Given the description of an element on the screen output the (x, y) to click on. 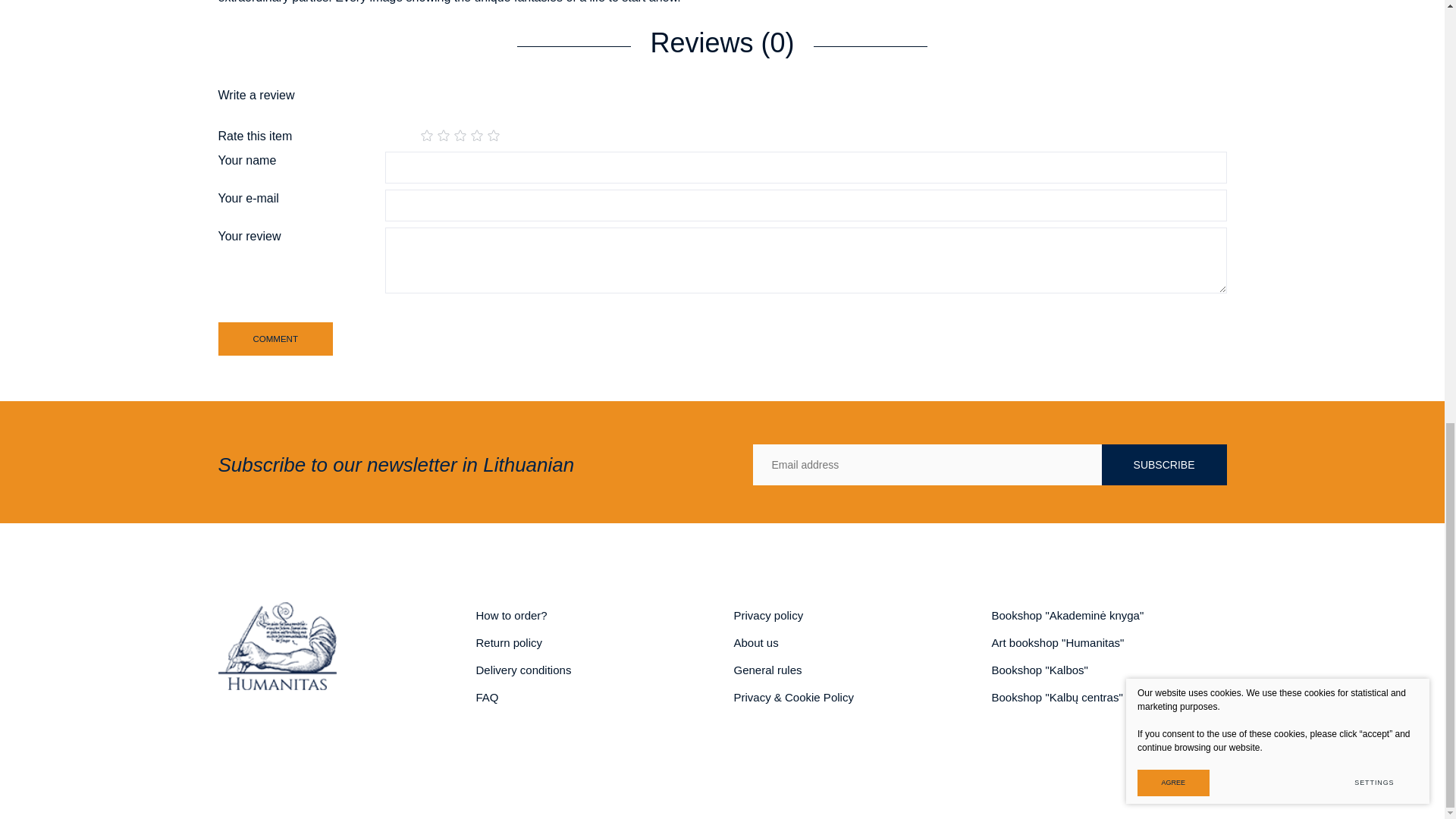
Email address (926, 464)
